Given the description of an element on the screen output the (x, y) to click on. 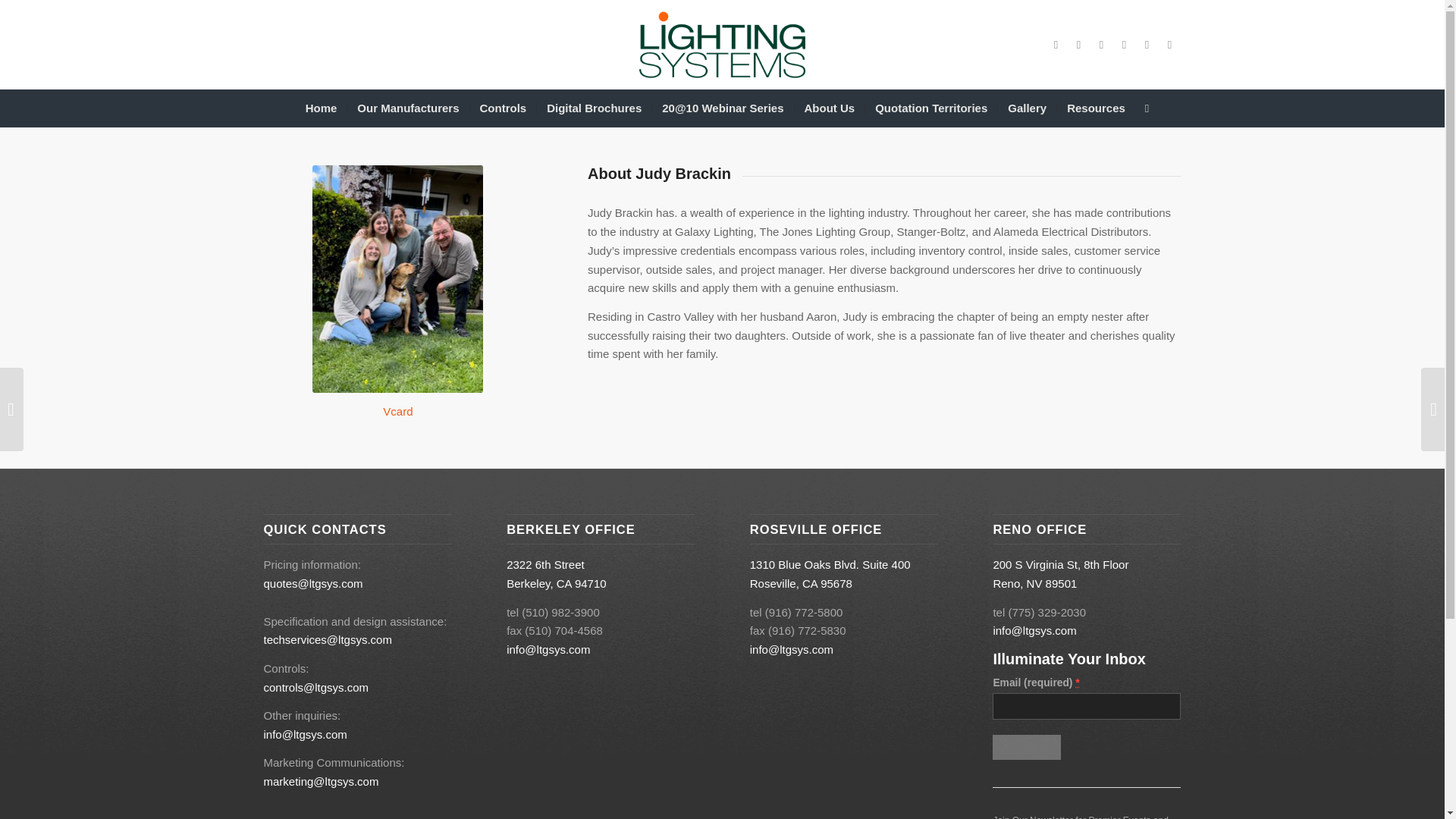
Home (321, 108)
About Us (828, 108)
LinkedIn (1056, 44)
Gallery (1027, 108)
Pinterest (1146, 44)
Twitter (1124, 44)
Controls (502, 108)
Sign up (1025, 747)
Digital Brochures (592, 108)
Youtube (1169, 44)
Resources (1096, 108)
Facebook (1101, 44)
required (1077, 682)
Judy and Family (398, 279)
Instagram (1078, 44)
